Given the description of an element on the screen output the (x, y) to click on. 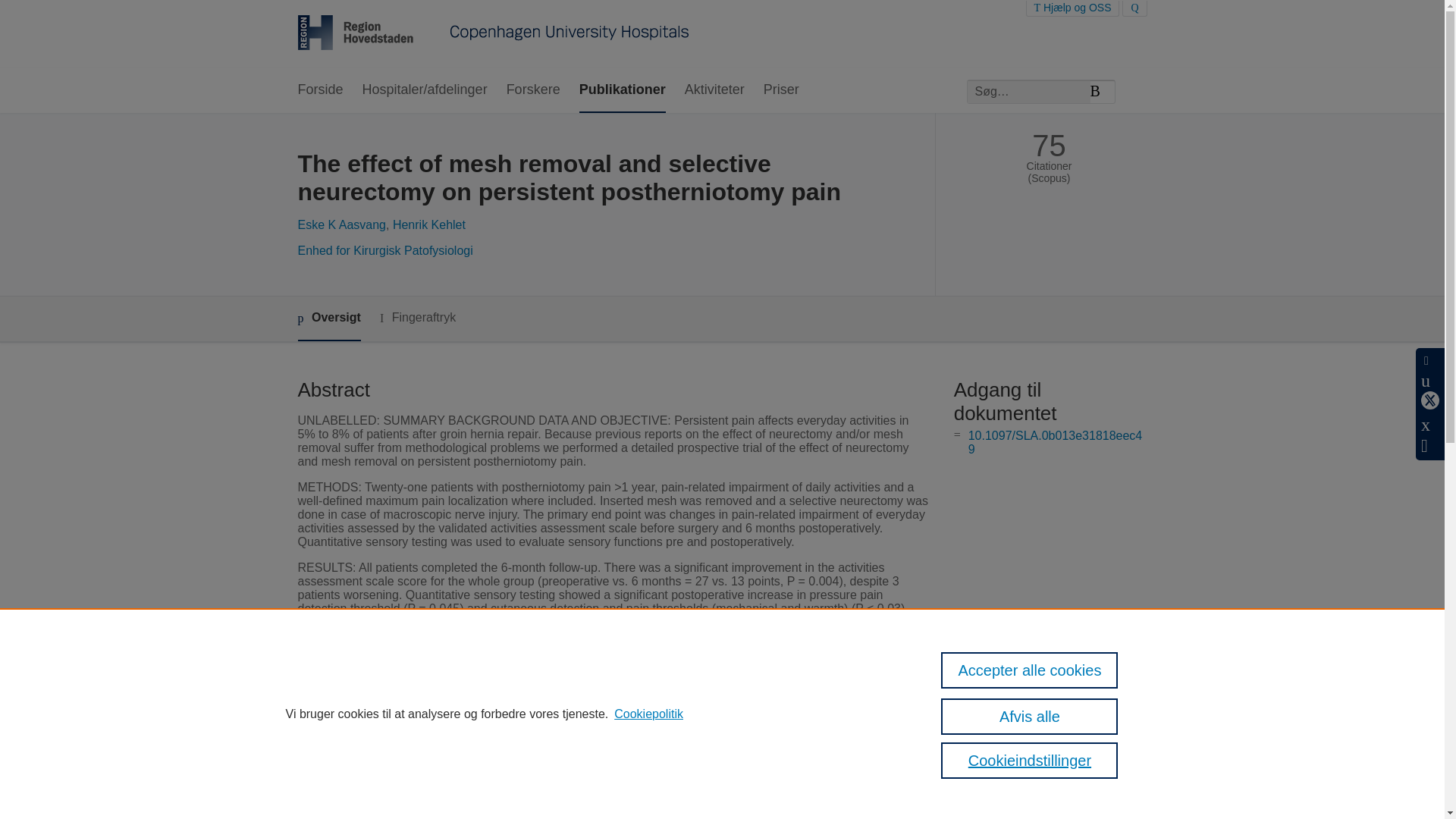
Region Hovedstadens forskningsportal Forside (492, 34)
Publikationer (622, 90)
Forside (319, 90)
Fingeraftryk (417, 317)
Forskere (533, 90)
Annals of Surgery (558, 717)
Aktiviteter (714, 90)
Eske K Aasvang (341, 224)
Enhed for Kirurgisk Patofysiologi (384, 250)
Henrik Kehlet (429, 224)
